Given the description of an element on the screen output the (x, y) to click on. 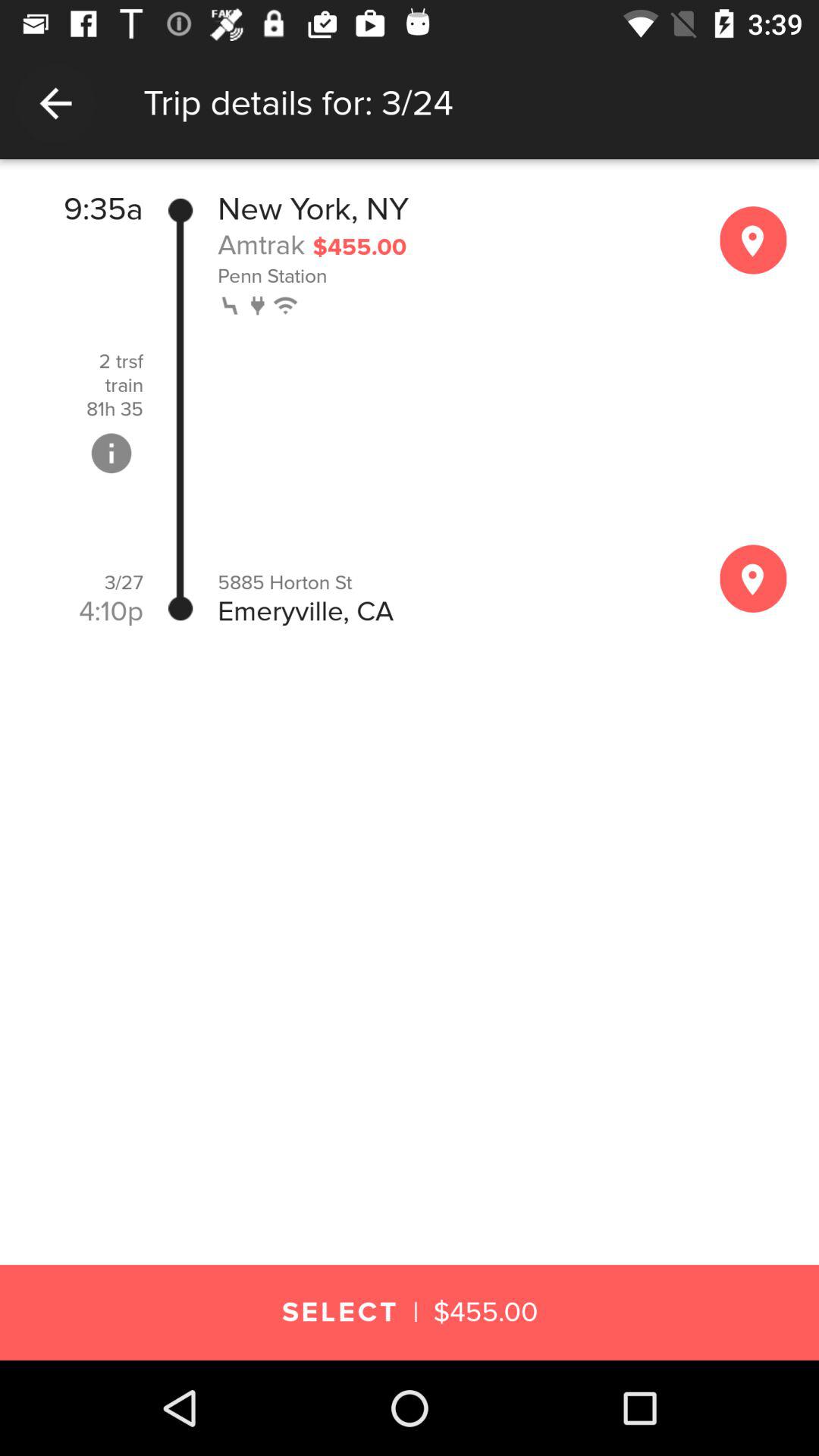
turn on icon above 5885 horton st item (287, 303)
